Given the description of an element on the screen output the (x, y) to click on. 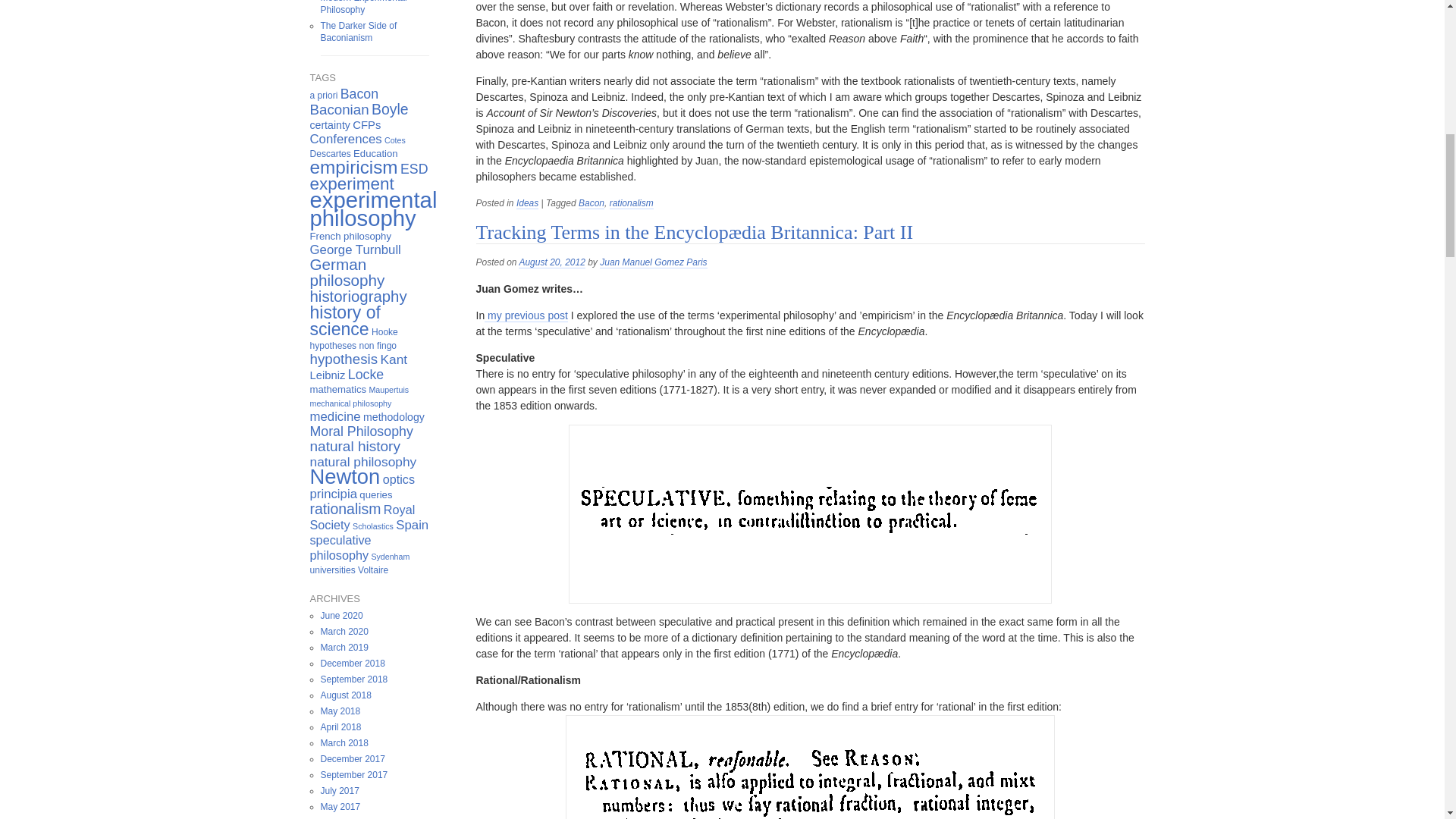
The Darker Side of Baconianism (358, 31)
Baconian (338, 109)
a priori (322, 95)
Bacon (359, 93)
A New Volume on Early Modern Experimental Philosophy (367, 7)
